Given the description of an element on the screen output the (x, y) to click on. 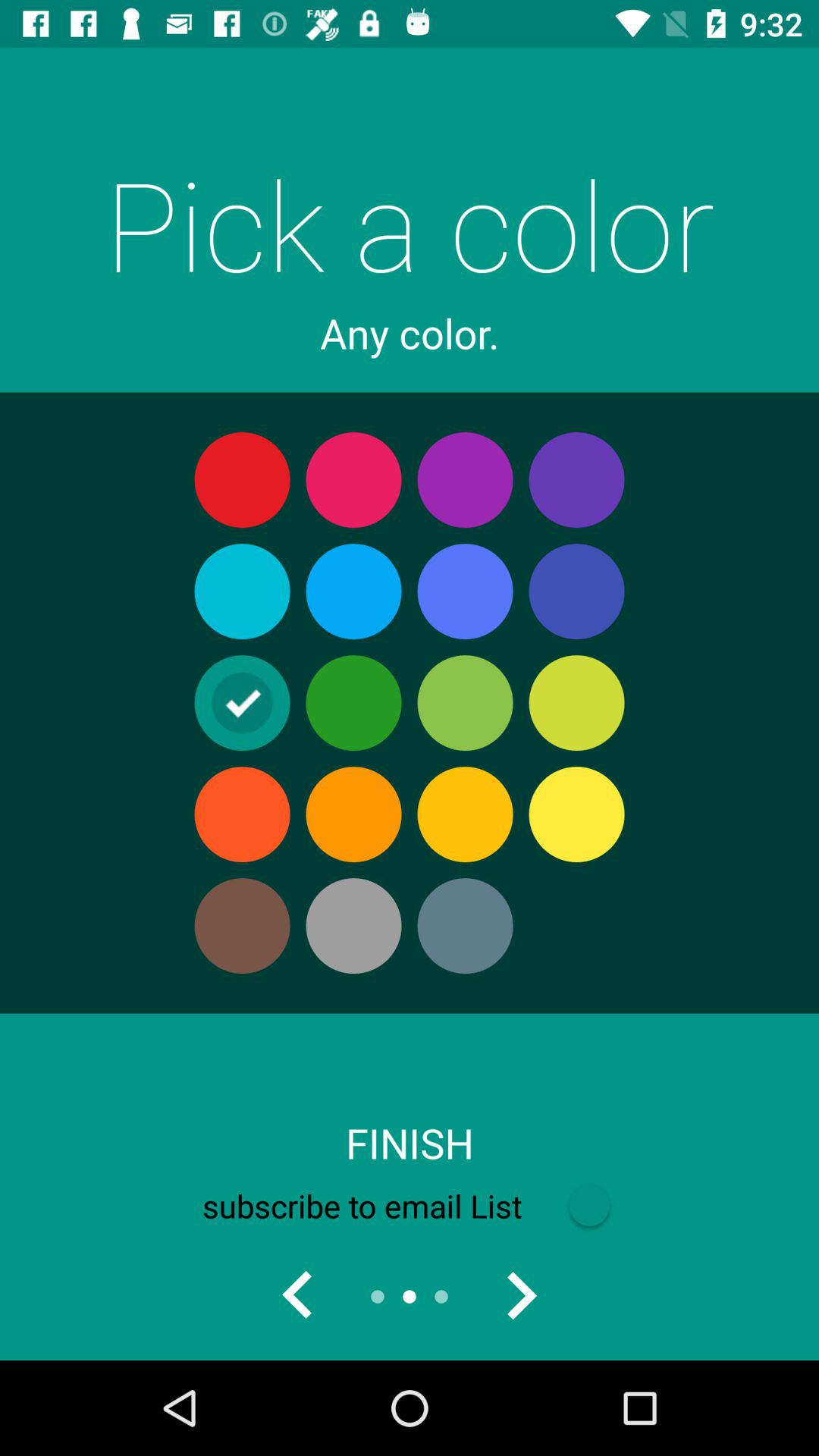
flip until finish icon (409, 1143)
